Given the description of an element on the screen output the (x, y) to click on. 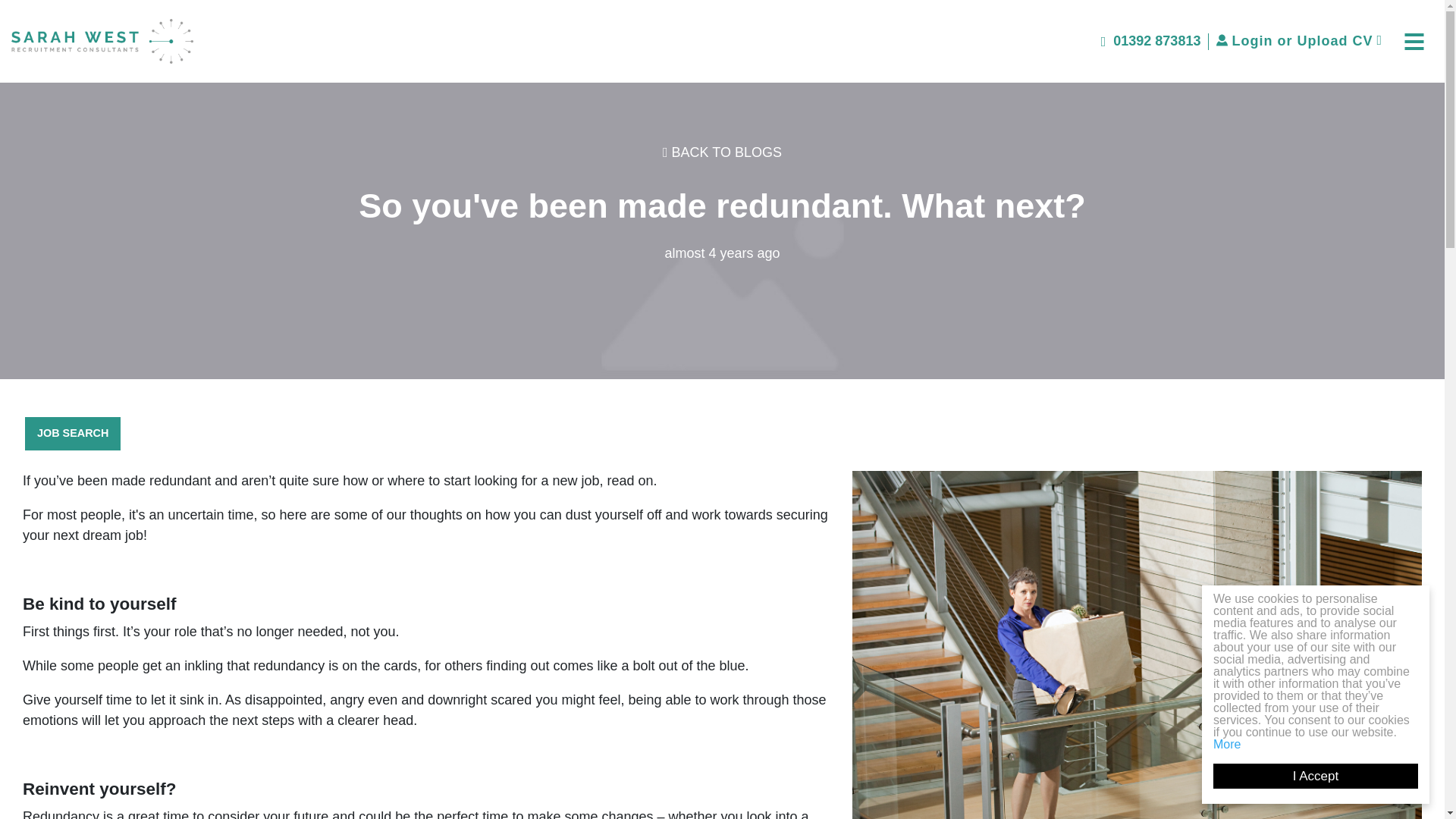
More (1240, 744)
BACK TO BLOGS (721, 151)
I Accept (1329, 775)
Login or Upload CV (1298, 41)
JOB SEARCH (72, 433)
